Given the description of an element on the screen output the (x, y) to click on. 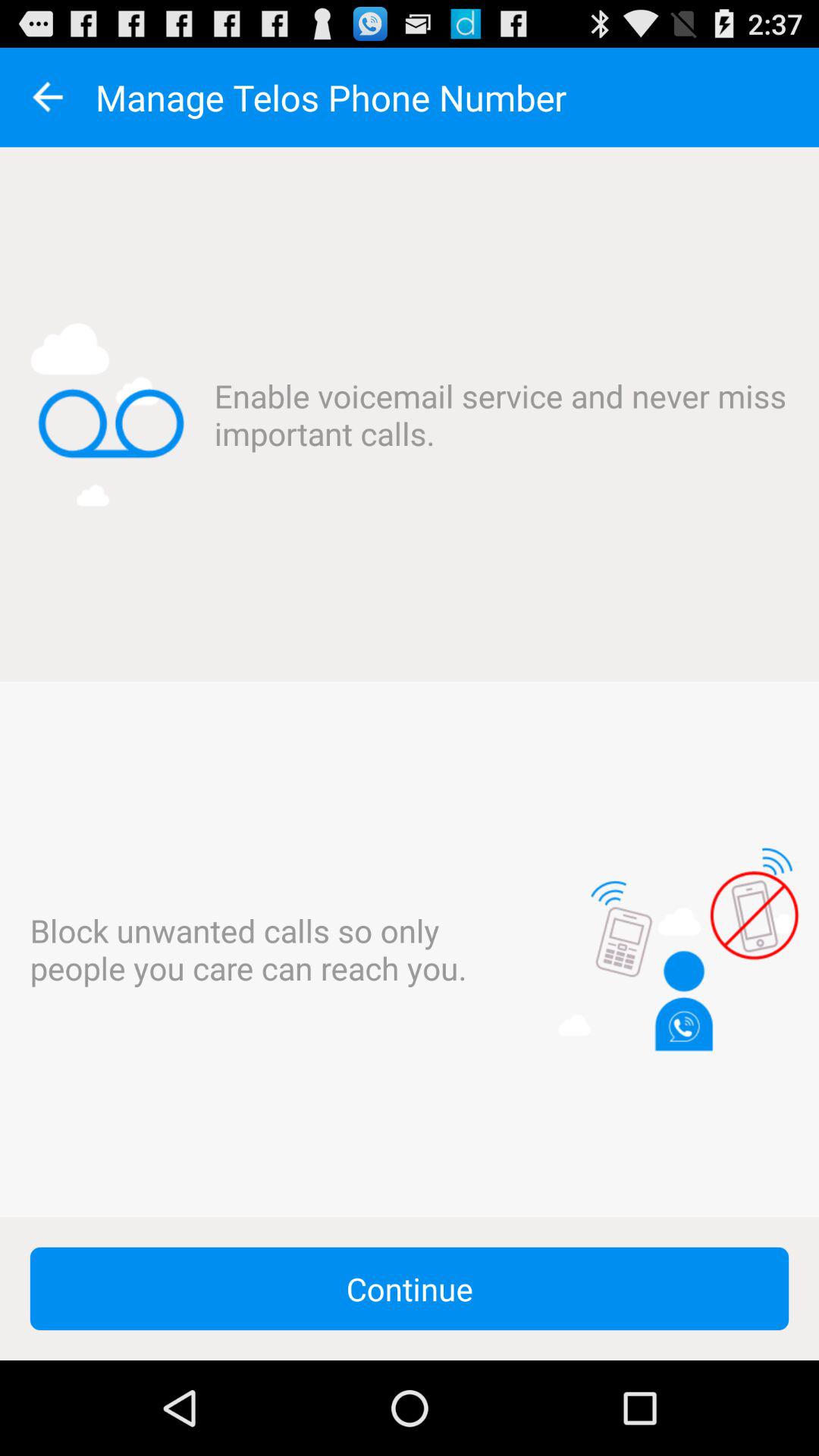
turn on continue item (409, 1288)
